Given the description of an element on the screen output the (x, y) to click on. 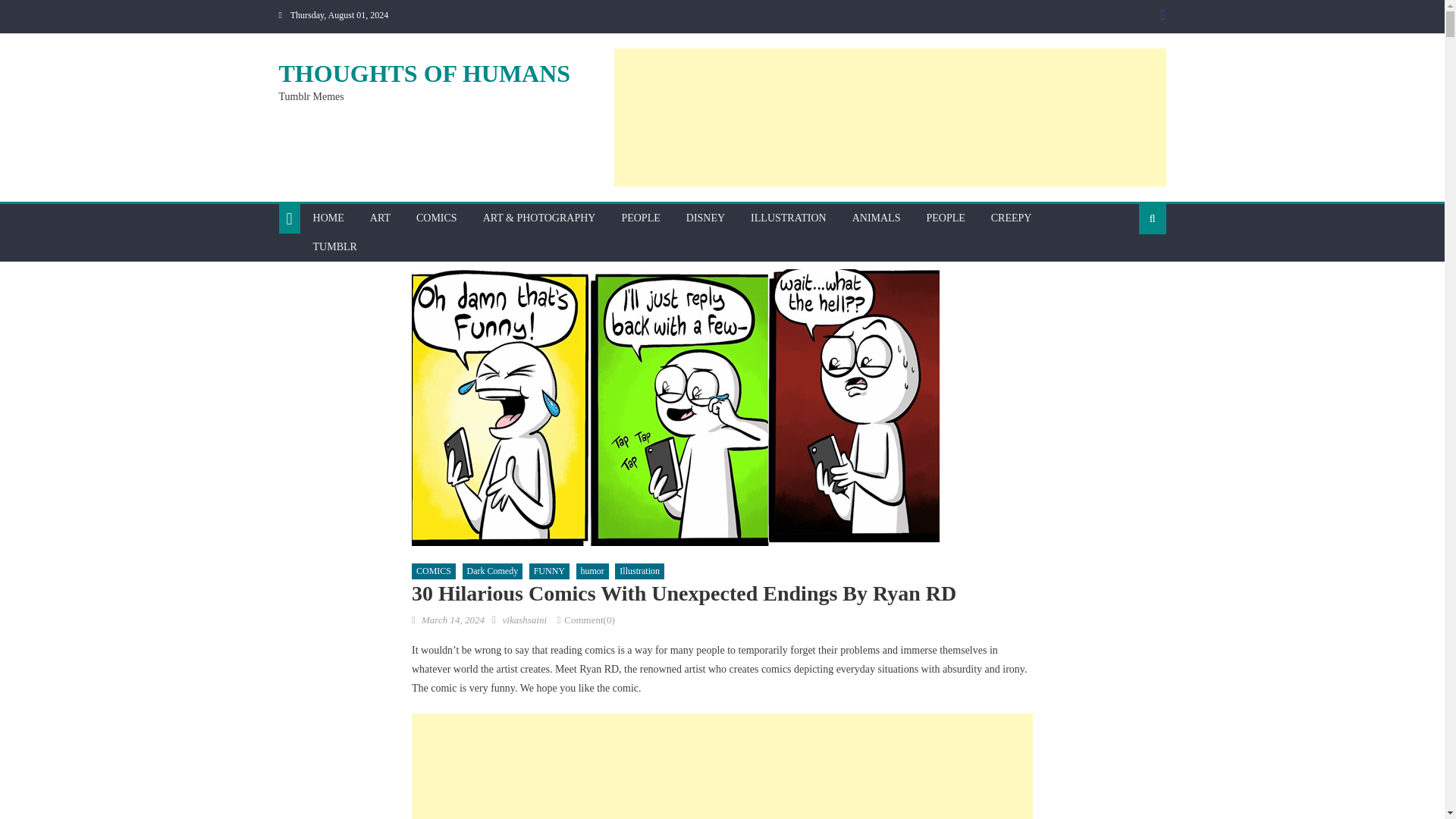
PEOPLE (944, 217)
COMICS (433, 571)
humor (592, 571)
March 14, 2024 (453, 619)
CREEPY (1011, 217)
ART (379, 217)
HOME (328, 217)
Dark Comedy (492, 571)
FUNNY (549, 571)
Illustration (638, 571)
